Given the description of an element on the screen output the (x, y) to click on. 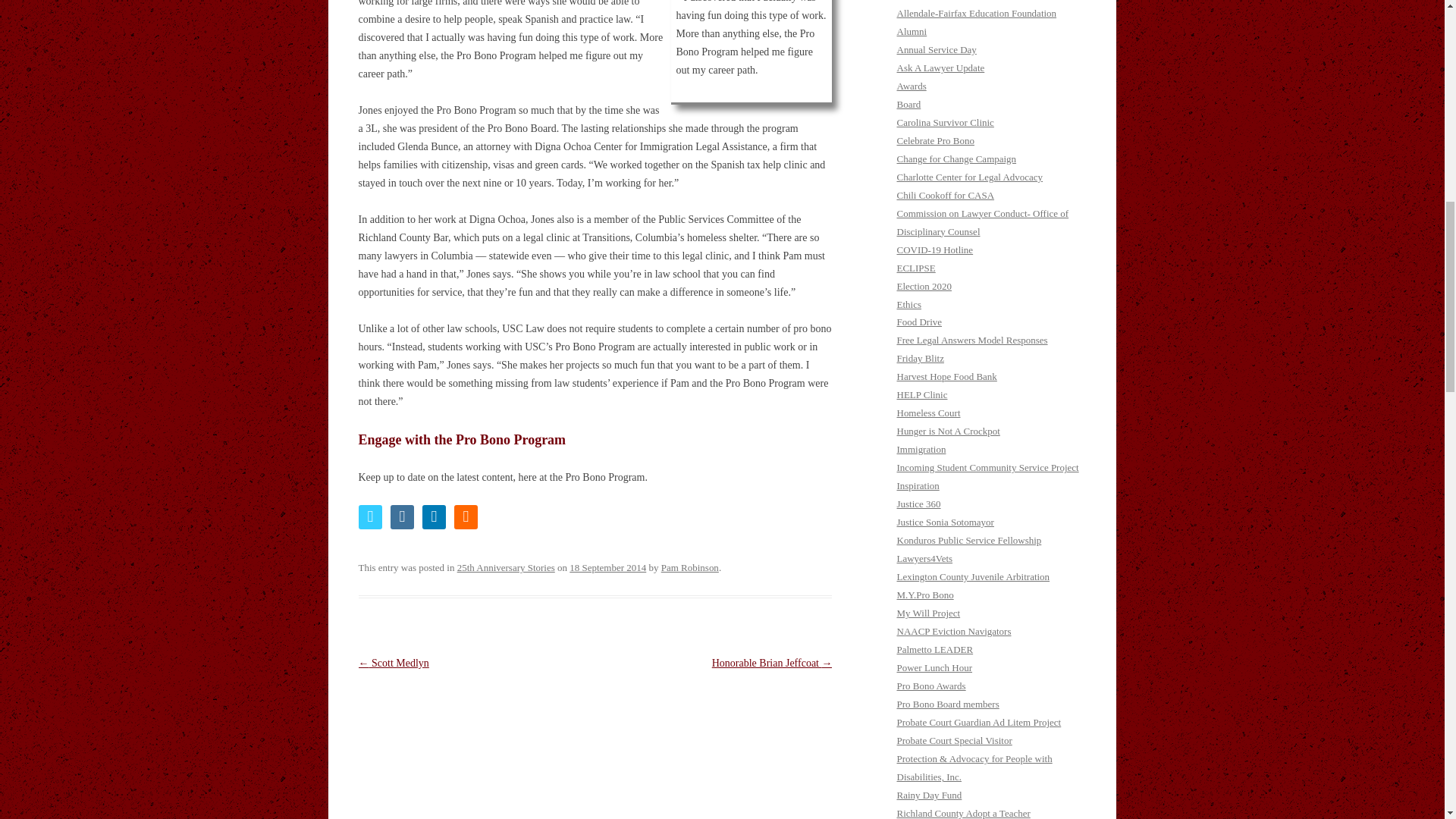
Allendale-Fairfax Education Foundation (976, 12)
10:30 AM (607, 567)
Alumni (911, 30)
18 September 2014 (607, 567)
Subscribe via RSS (464, 517)
25th Anniversary Stories (505, 567)
Pam Robinson (690, 567)
Administrivia (923, 0)
View all posts by Pam Robinson (690, 567)
